Given the description of an element on the screen output the (x, y) to click on. 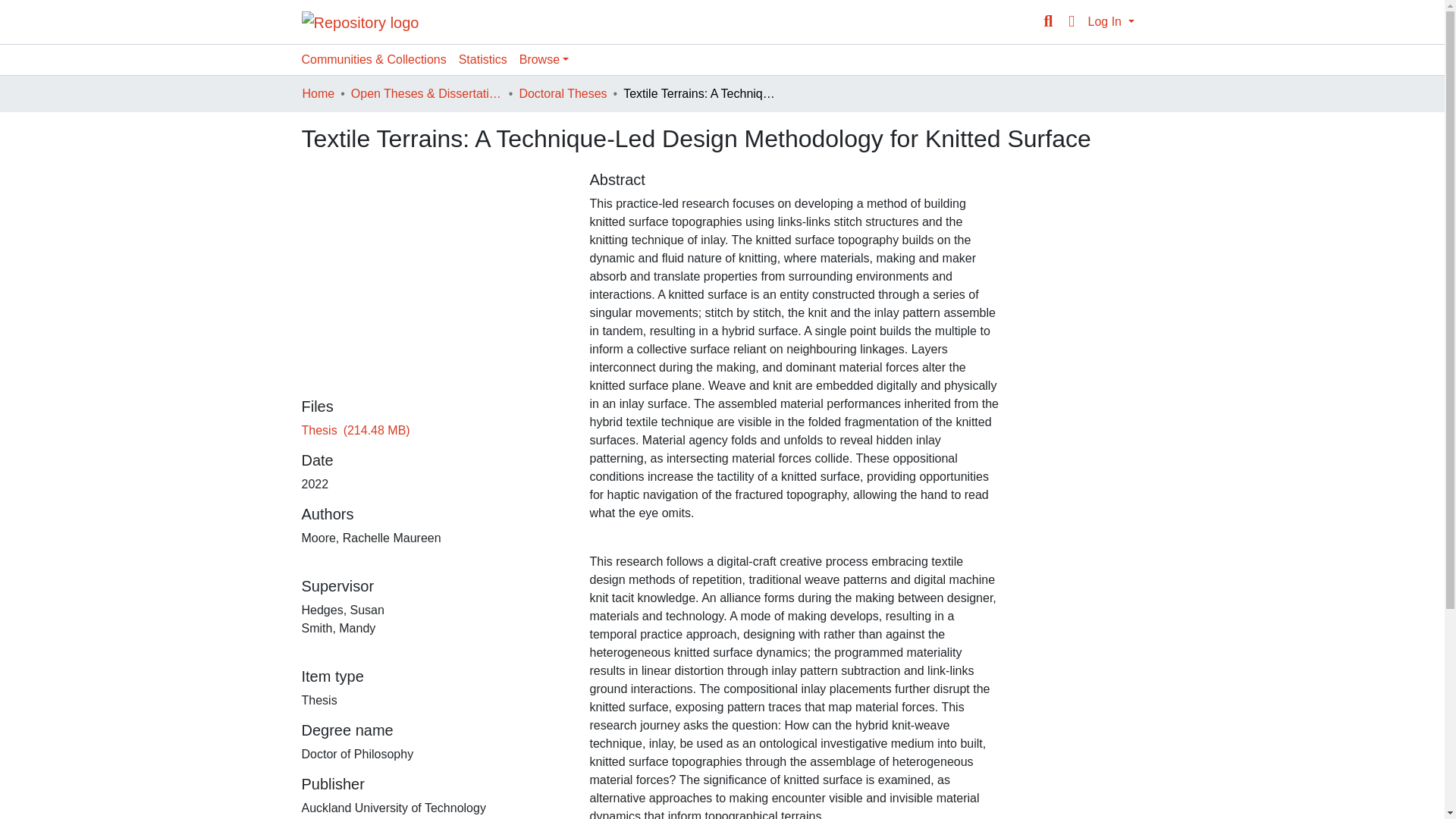
Log In (1110, 21)
Doctoral Theses (562, 94)
Search (1048, 22)
Statistics (482, 60)
Language switch (1071, 22)
Browse (544, 60)
Statistics (482, 60)
Home (317, 94)
